Given the description of an element on the screen output the (x, y) to click on. 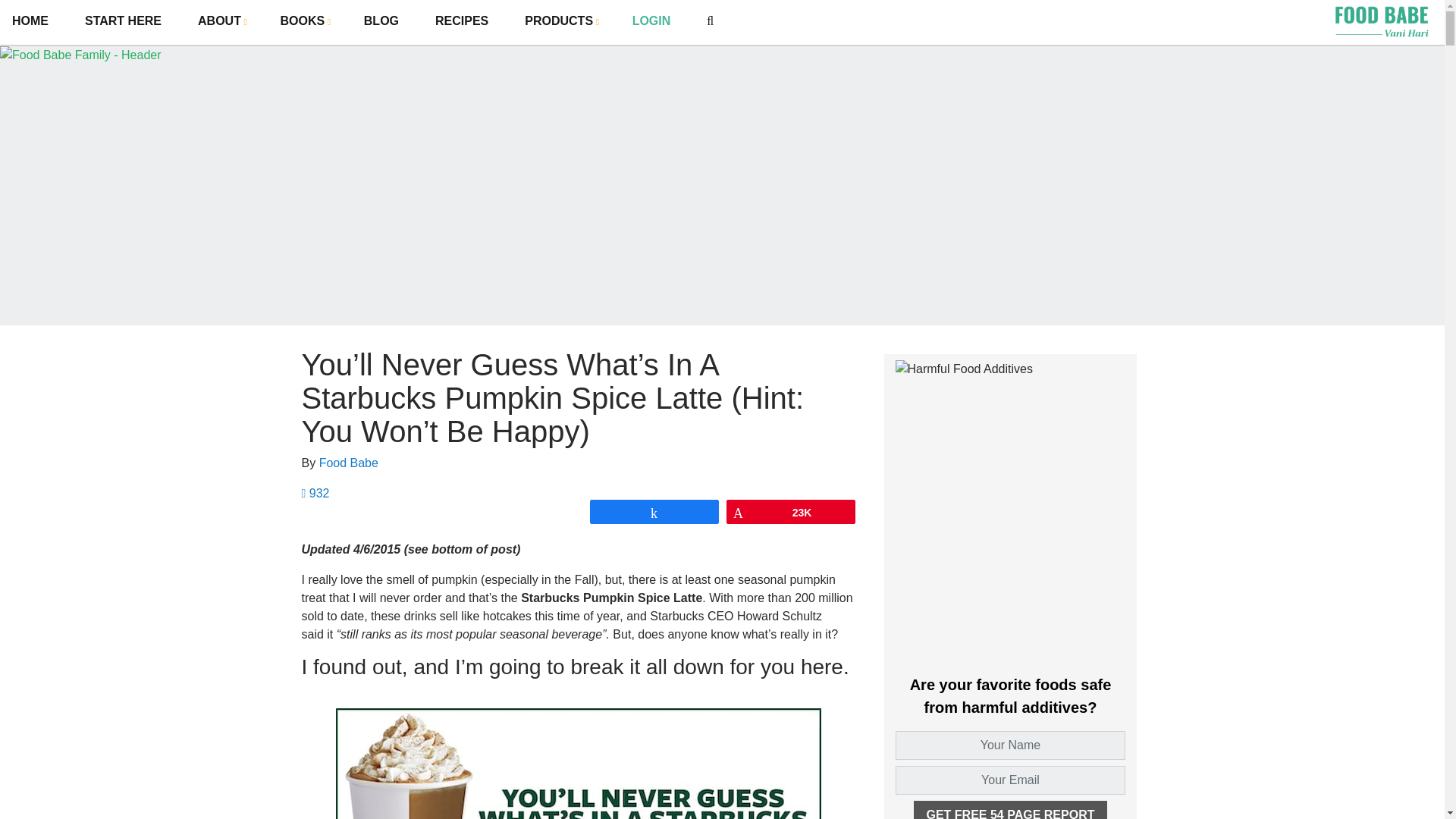
BOOKS (304, 20)
RECIPES (461, 21)
BLOG (381, 21)
23K (789, 511)
START HERE (122, 21)
PRODUCTS (559, 20)
ABOUT (220, 20)
HOME (29, 21)
Food Babe (348, 462)
LOGIN (651, 21)
932 (315, 492)
